Given the description of an element on the screen output the (x, y) to click on. 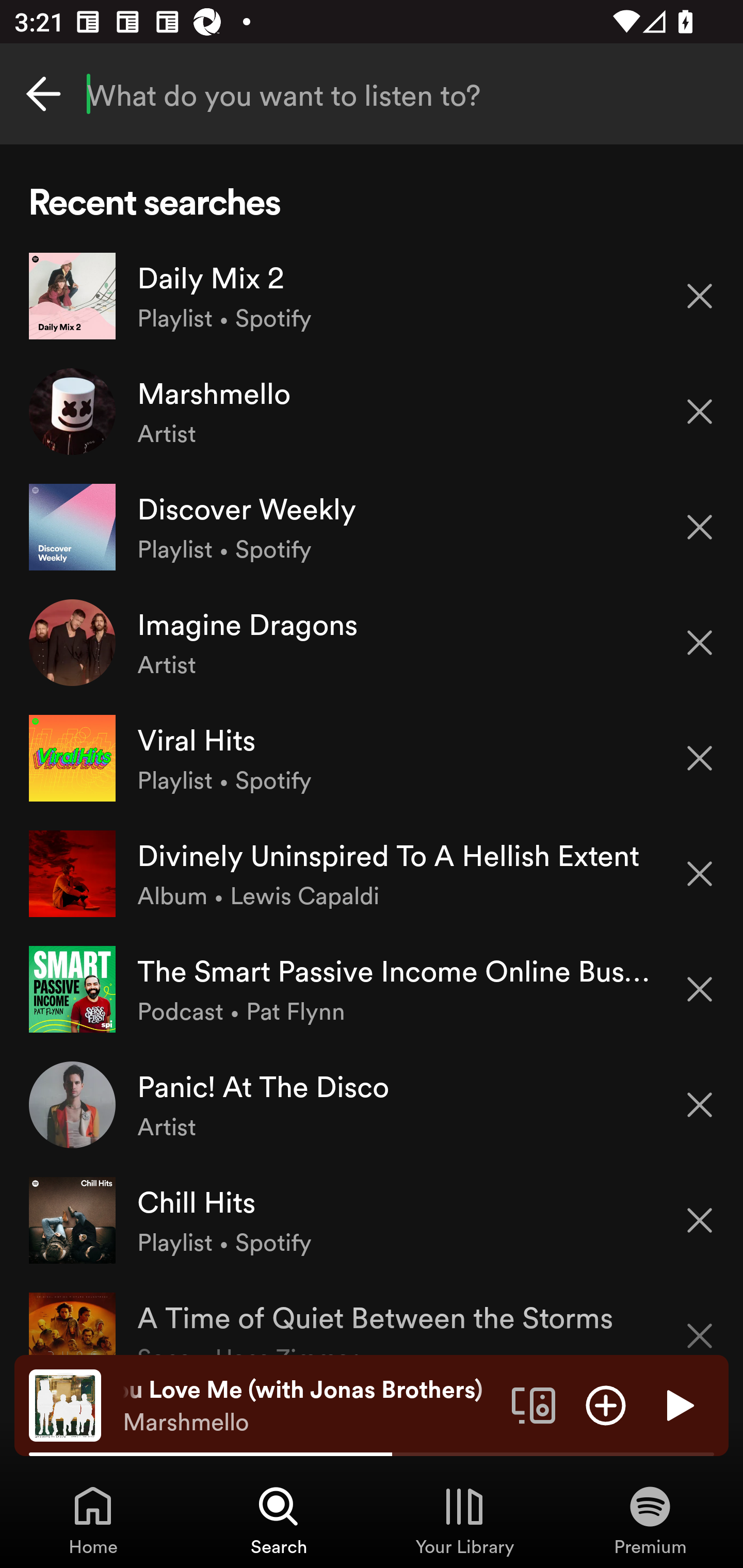
What do you want to listen to? (371, 93)
Cancel (43, 93)
Daily Mix 2 Playlist • Spotify Remove (371, 296)
Remove (699, 295)
Marshmello Artist Remove (371, 411)
Remove (699, 411)
Discover Weekly Playlist • Spotify Remove (371, 526)
Remove (699, 527)
Imagine Dragons Artist Remove (371, 642)
Remove (699, 642)
Viral Hits Playlist • Spotify Remove (371, 757)
Remove (699, 758)
Remove (699, 874)
Remove (699, 989)
Panic! At The Disco Artist Remove (371, 1104)
Remove (699, 1104)
Chill Hits Playlist • Spotify Remove (371, 1219)
Remove (699, 1220)
